Given the description of an element on the screen output the (x, y) to click on. 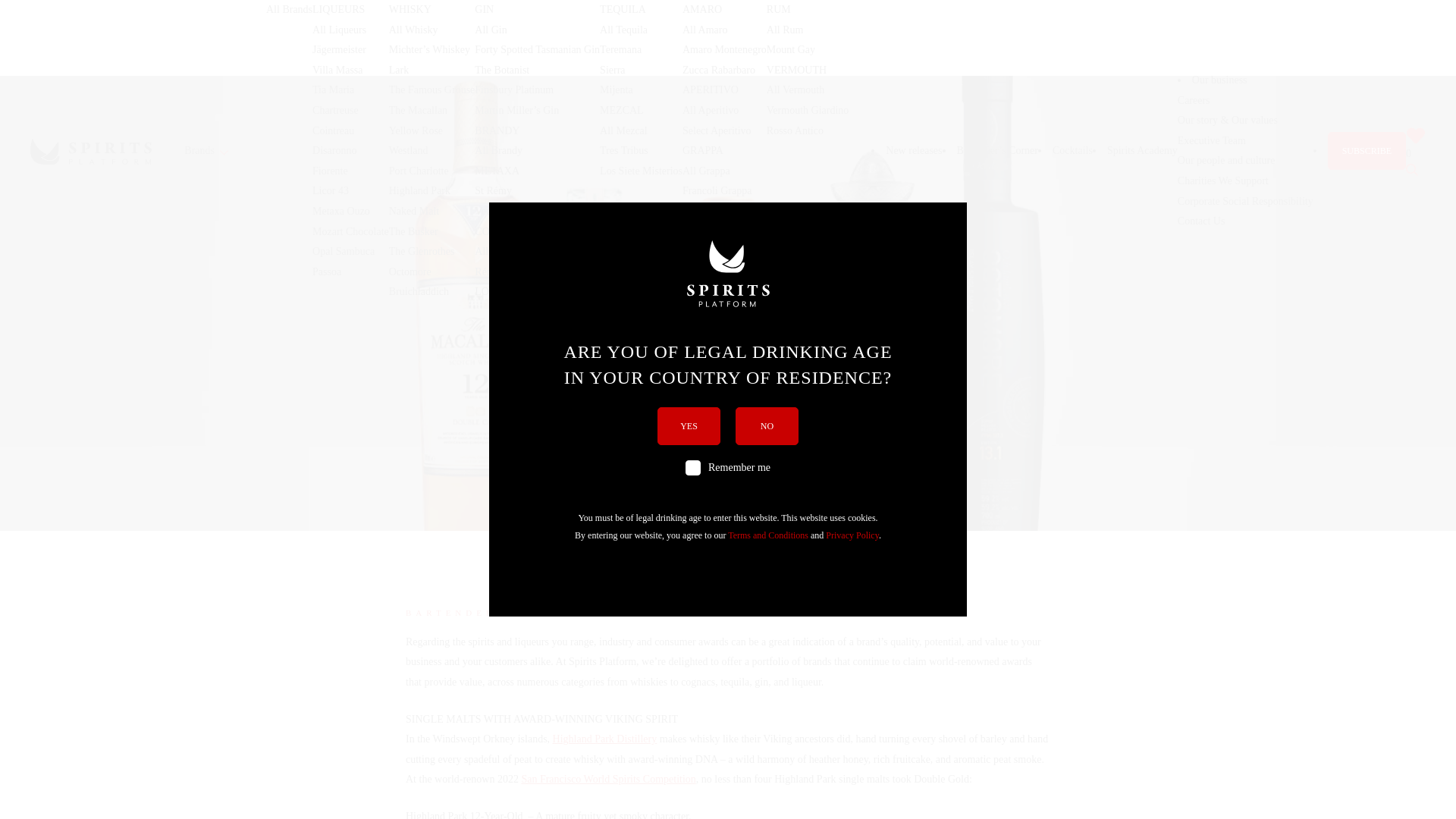
Cointreau (333, 130)
All Liqueurs (339, 30)
Fiorente (330, 170)
The Glenrothes (421, 251)
Port Charlotte (418, 170)
Lark (398, 70)
Yellow Rose (415, 130)
The Macallan (417, 110)
The Busker (413, 231)
Octomore (409, 271)
